Given the description of an element on the screen output the (x, y) to click on. 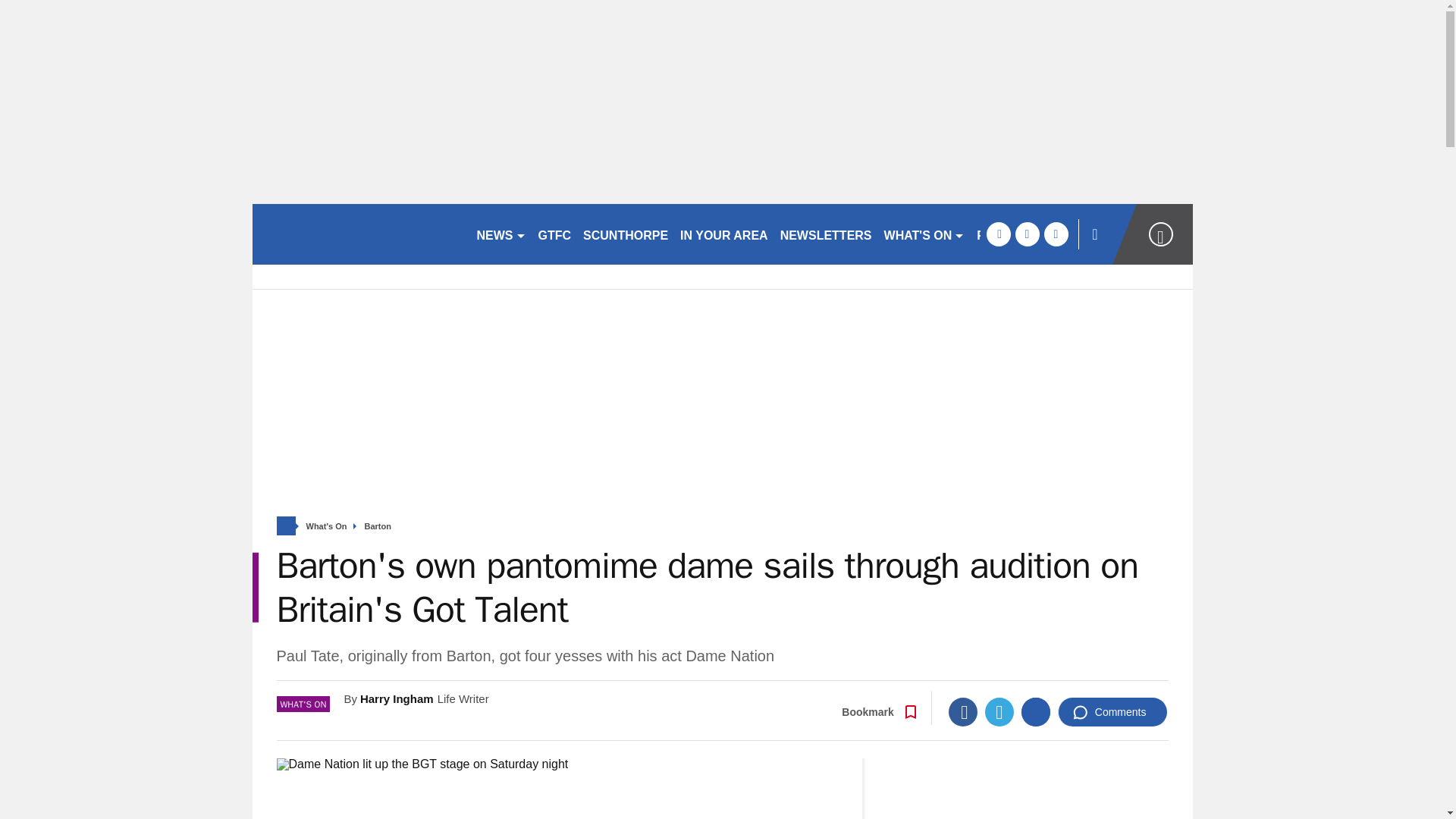
twitter (1026, 233)
NEWS (500, 233)
Twitter (999, 711)
facebook (997, 233)
Facebook (962, 711)
WHAT'S ON (924, 233)
NEWSLETTERS (825, 233)
SCUNTHORPE (625, 233)
PARTNER STORIES (1034, 233)
IN YOUR AREA (724, 233)
